Given the description of an element on the screen output the (x, y) to click on. 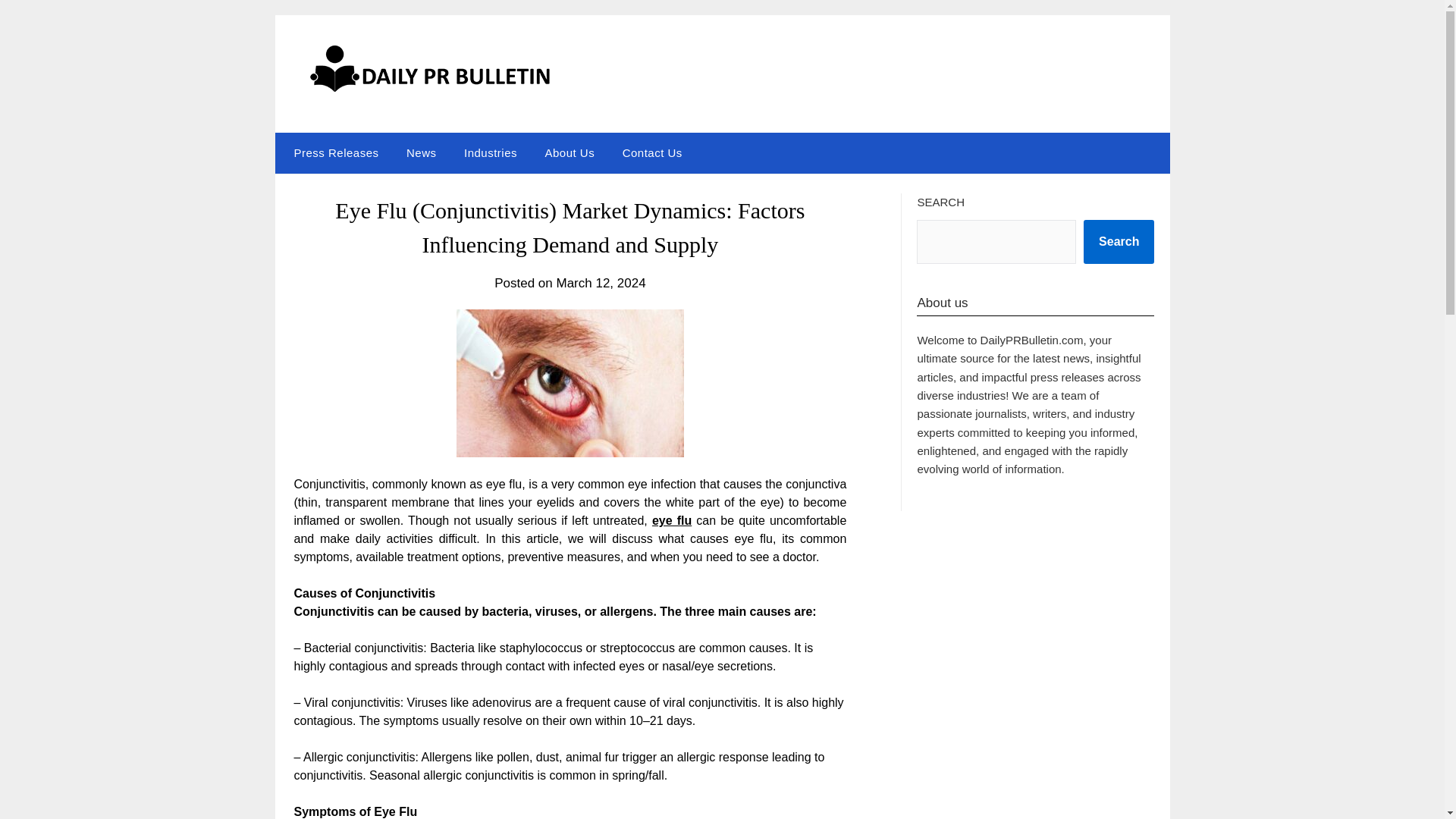
Industries (490, 152)
eye flu (671, 520)
About Us (569, 152)
Contact Us (652, 152)
Press Releases (332, 152)
Search (1118, 241)
News (421, 152)
